Given the description of an element on the screen output the (x, y) to click on. 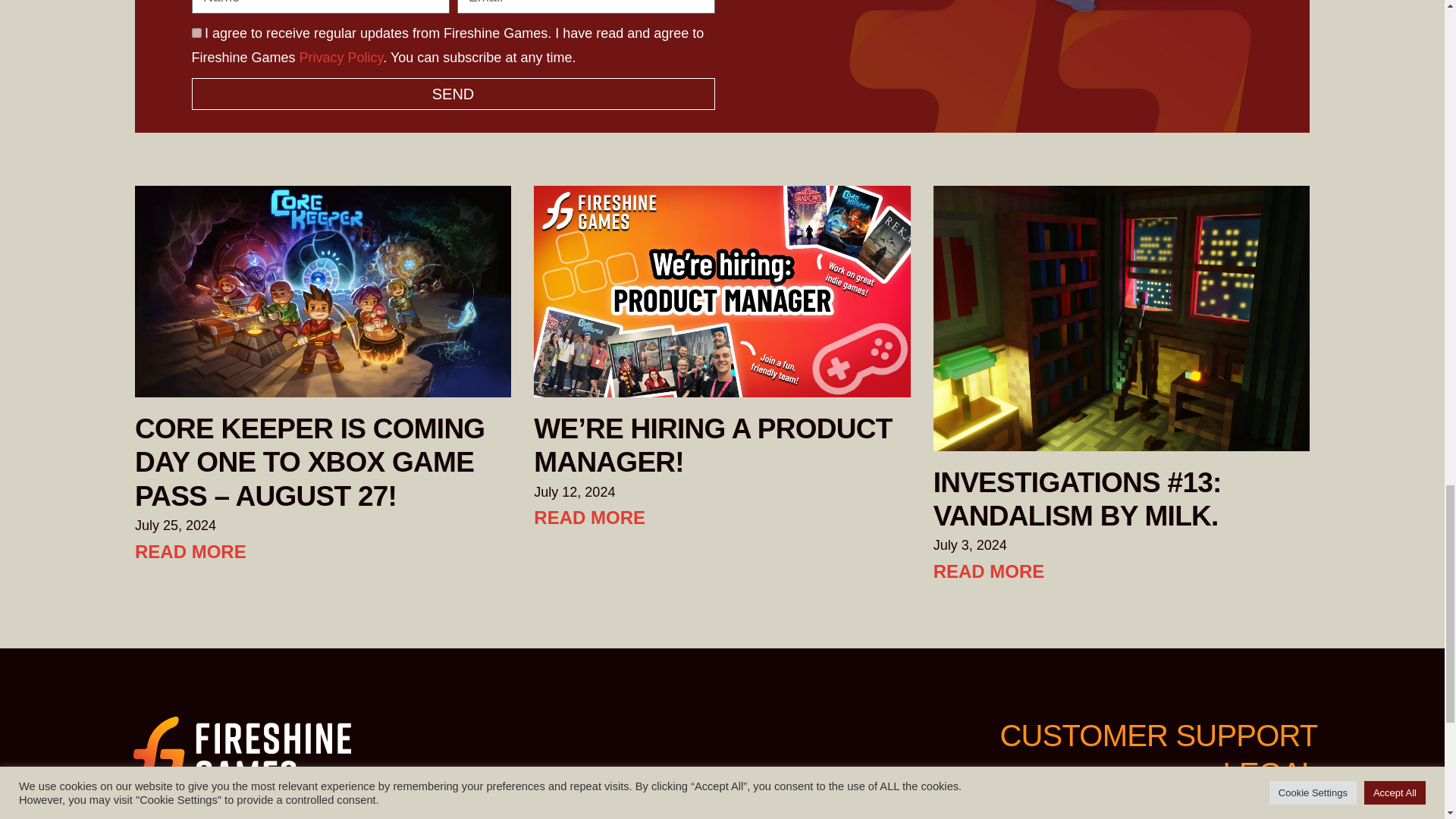
READ MORE (989, 571)
READ MORE (190, 551)
on (195, 32)
SEND (452, 93)
CUSTOMER SUPPORT (1157, 735)
READ MORE (589, 516)
Privacy Policy (341, 57)
LEGAL (1270, 773)
keywe insert (1138, 11)
